Given the description of an element on the screen output the (x, y) to click on. 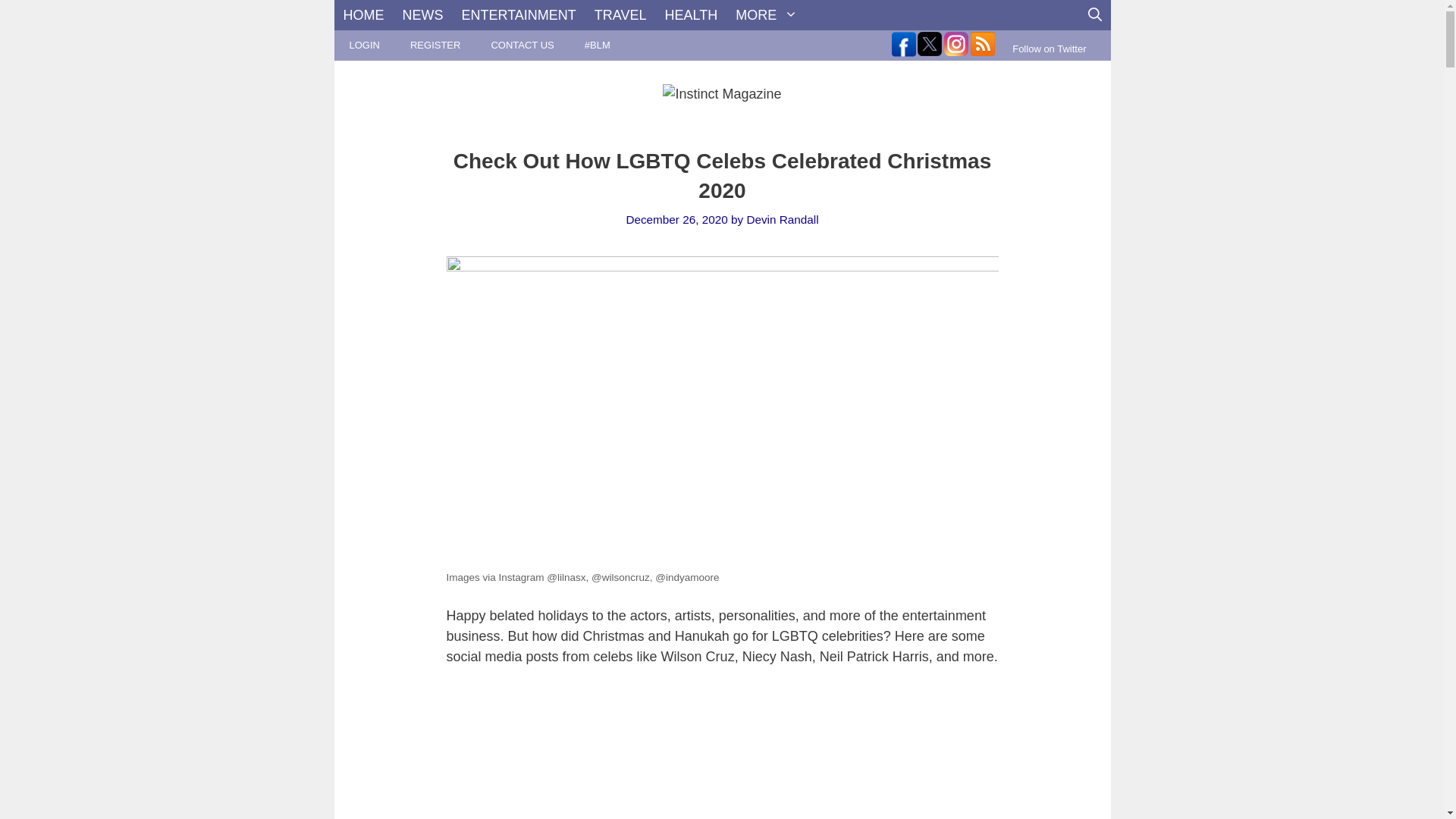
Follow on Twitter (1048, 49)
CONTACT US (522, 45)
TRAVEL (620, 15)
HOME (363, 15)
NEWS (422, 15)
Devin Randall (781, 219)
LOGIN (363, 45)
HEALTH (691, 15)
ENTERTAINMENT (518, 15)
MORE (766, 15)
